Given the description of an element on the screen output the (x, y) to click on. 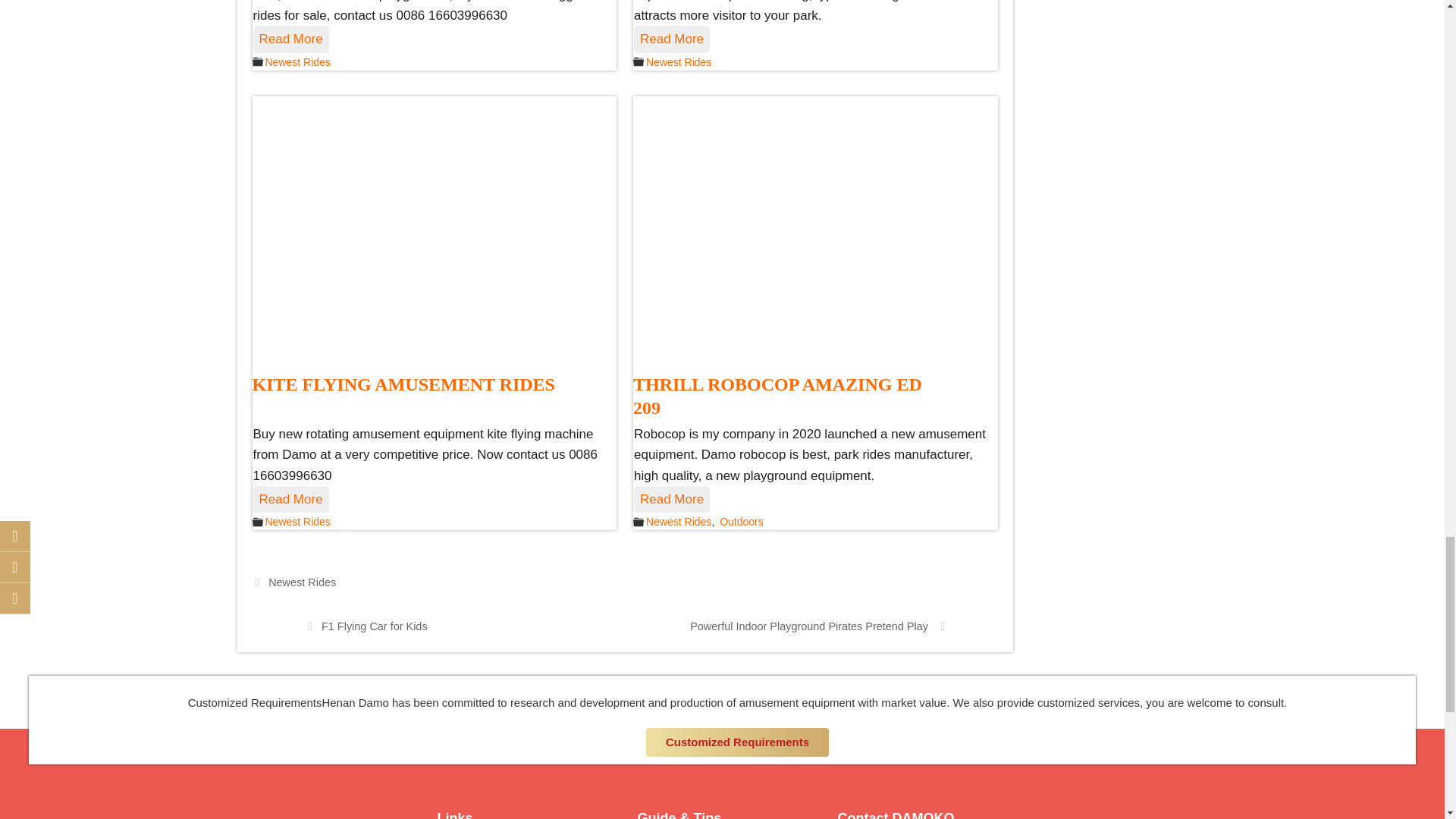
Categories (638, 521)
Categories (256, 521)
Categories (256, 61)
Categories (638, 61)
